Given the description of an element on the screen output the (x, y) to click on. 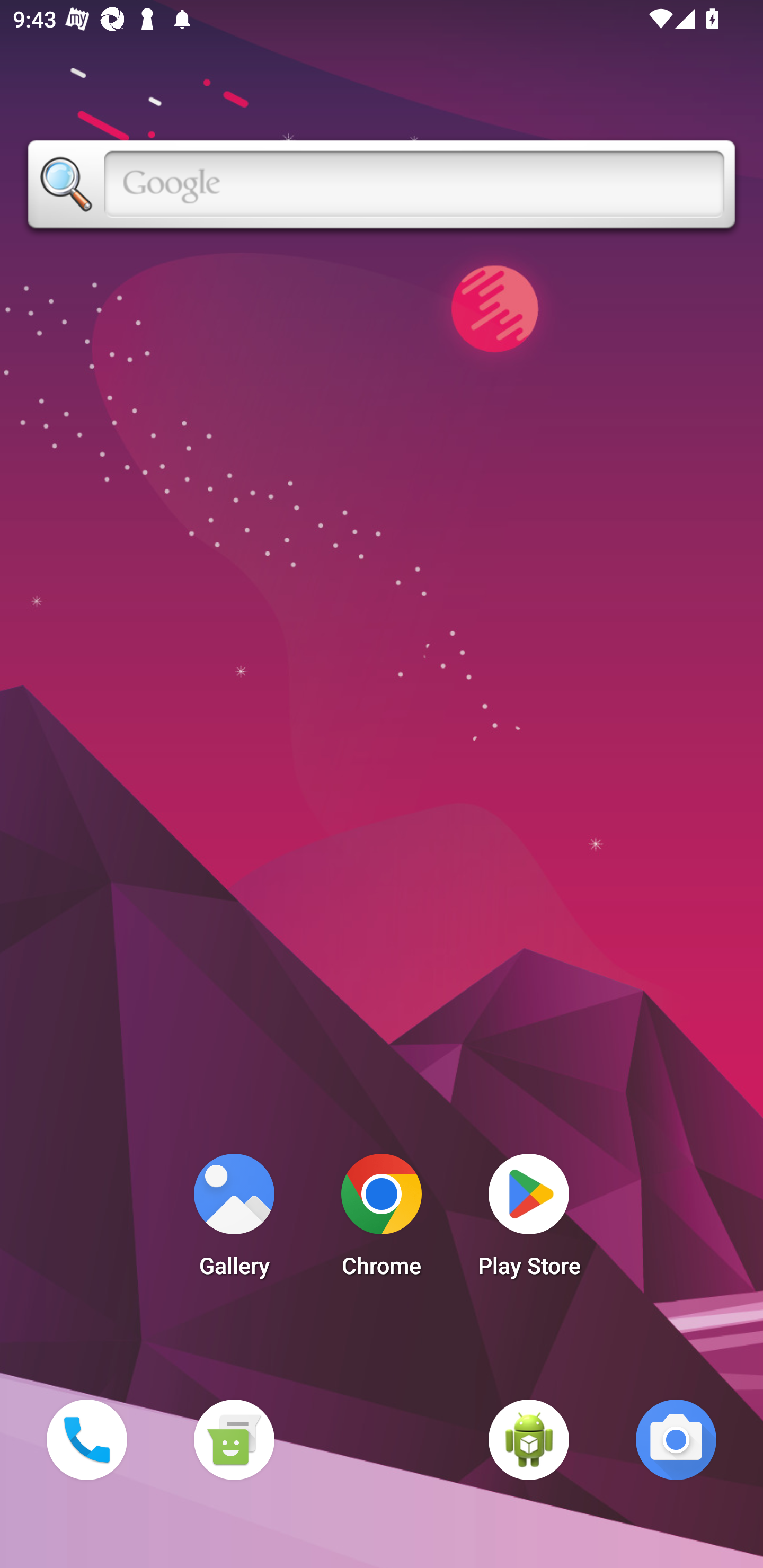
Gallery (233, 1220)
Chrome (381, 1220)
Play Store (528, 1220)
Phone (86, 1439)
Messaging (233, 1439)
WebView Browser Tester (528, 1439)
Camera (676, 1439)
